Given the description of an element on the screen output the (x, y) to click on. 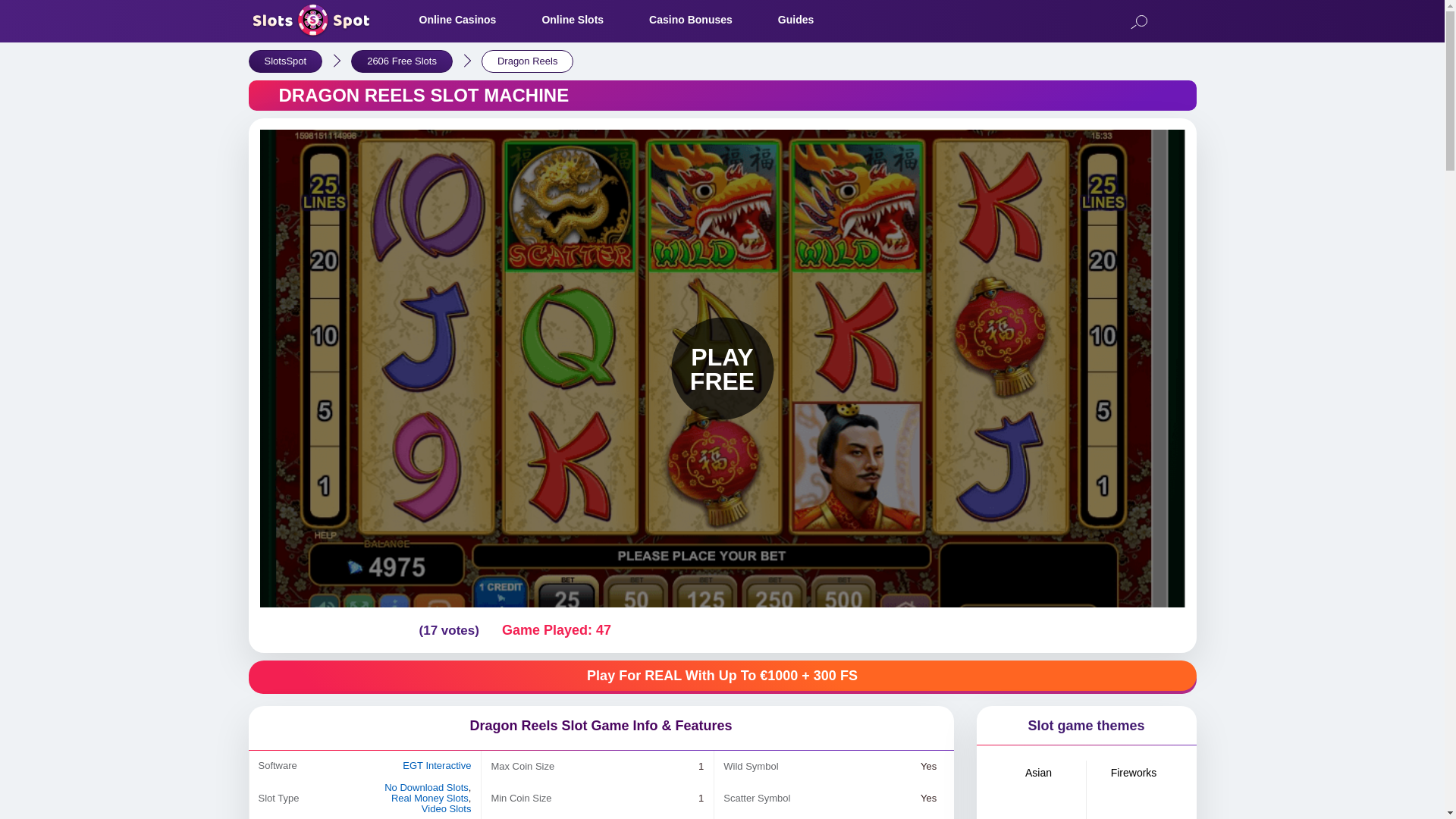
Full Screen (1173, 630)
Online Slots (572, 19)
Search (1138, 22)
Online Casinos (457, 19)
